Given the description of an element on the screen output the (x, y) to click on. 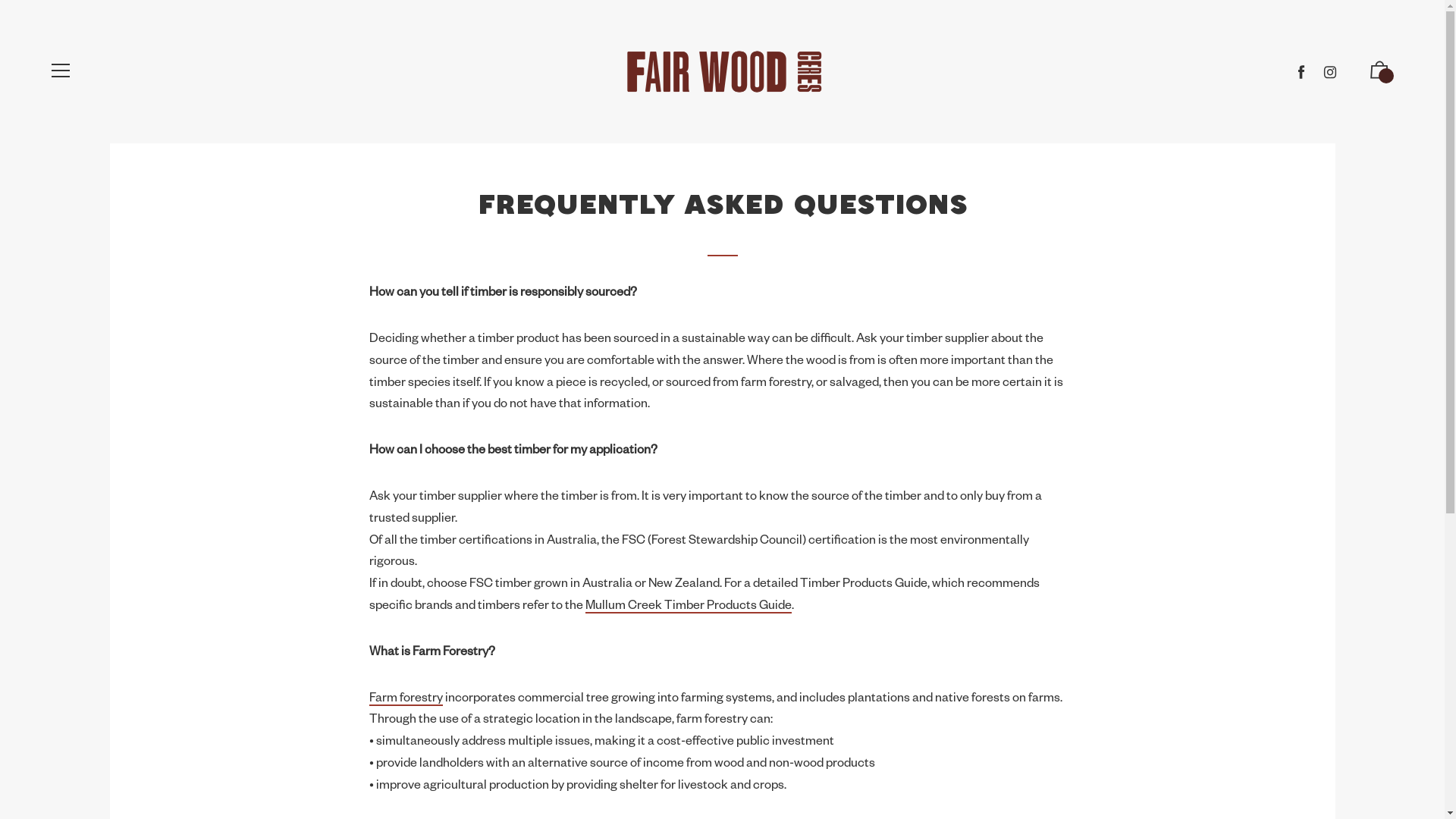
Farm forestry Element type: text (405, 697)
Mullum Creek Timber Products Guide Element type: text (688, 604)
CERES Fair Wood on Instagram Element type: hover (1329, 71)
0 Element type: text (1379, 73)
CERES Fair Wood on Facebook Element type: hover (1300, 71)
